Given the description of an element on the screen output the (x, y) to click on. 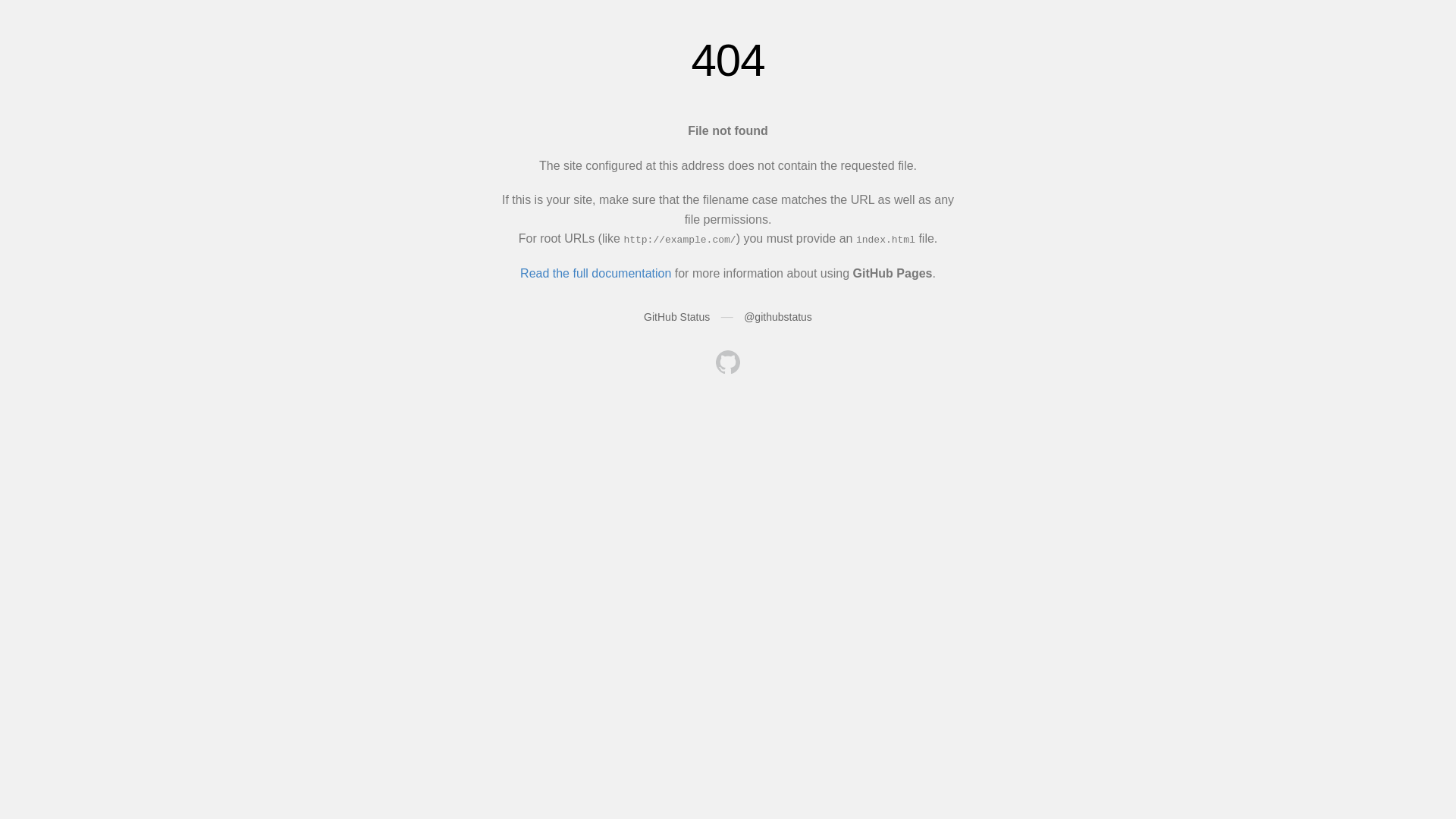
Read the full documentation Element type: text (595, 272)
GitHub Status Element type: text (676, 316)
@githubstatus Element type: text (777, 316)
